Given the description of an element on the screen output the (x, y) to click on. 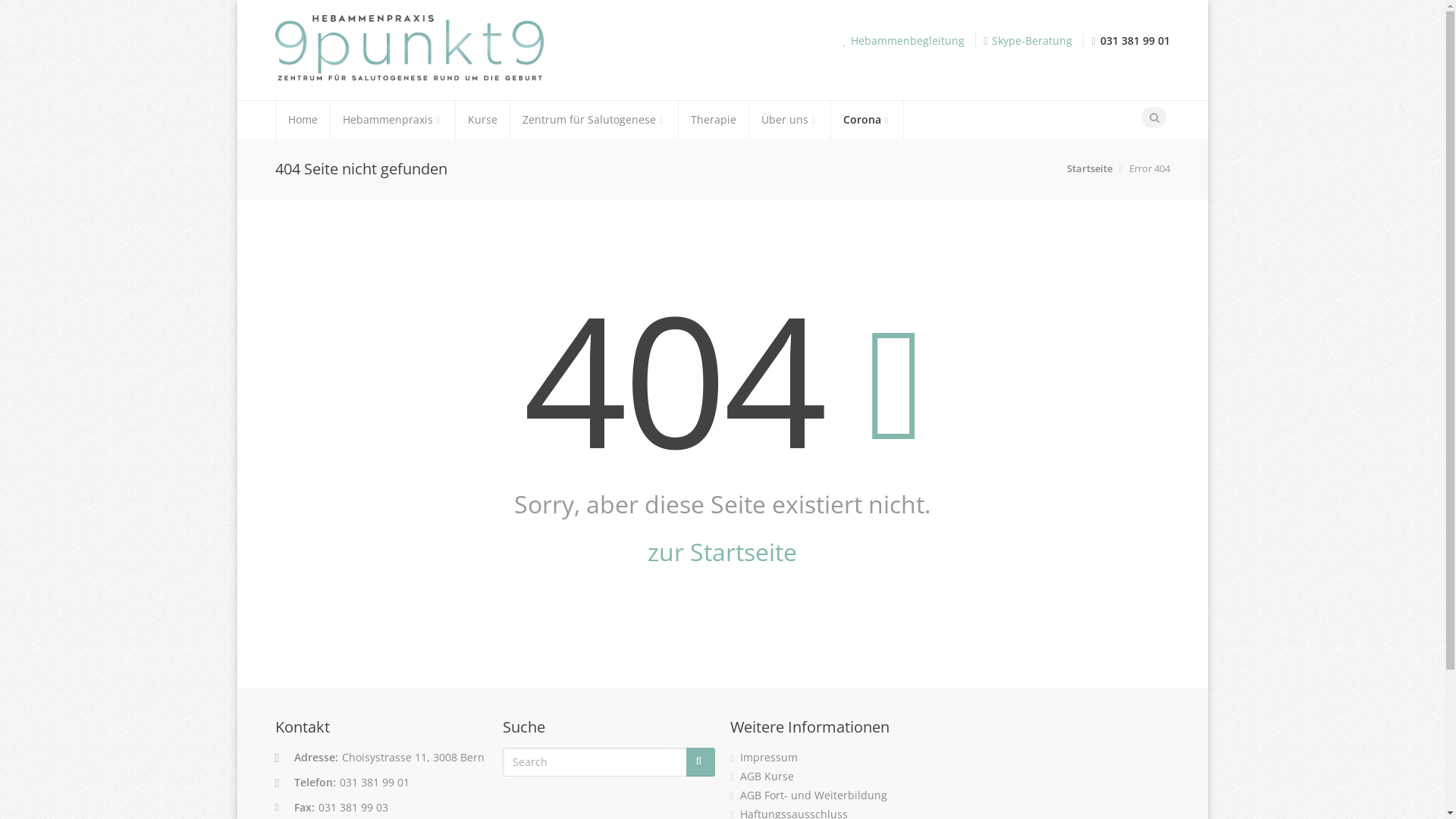
Kurse Element type: text (481, 119)
Hebammenpraxis Element type: text (392, 119)
zur Startseite Element type: text (722, 551)
Skype-Beratung Element type: text (1031, 40)
Hebammenbegleitung Element type: text (907, 40)
Startseite Element type: text (1089, 168)
Impressum Element type: text (768, 756)
Home Element type: text (302, 119)
Therapie Element type: text (712, 119)
AGB Fort- und Weiterbildung Element type: text (813, 794)
AGB Kurse Element type: text (766, 775)
Corona Element type: text (867, 119)
